Given the description of an element on the screen output the (x, y) to click on. 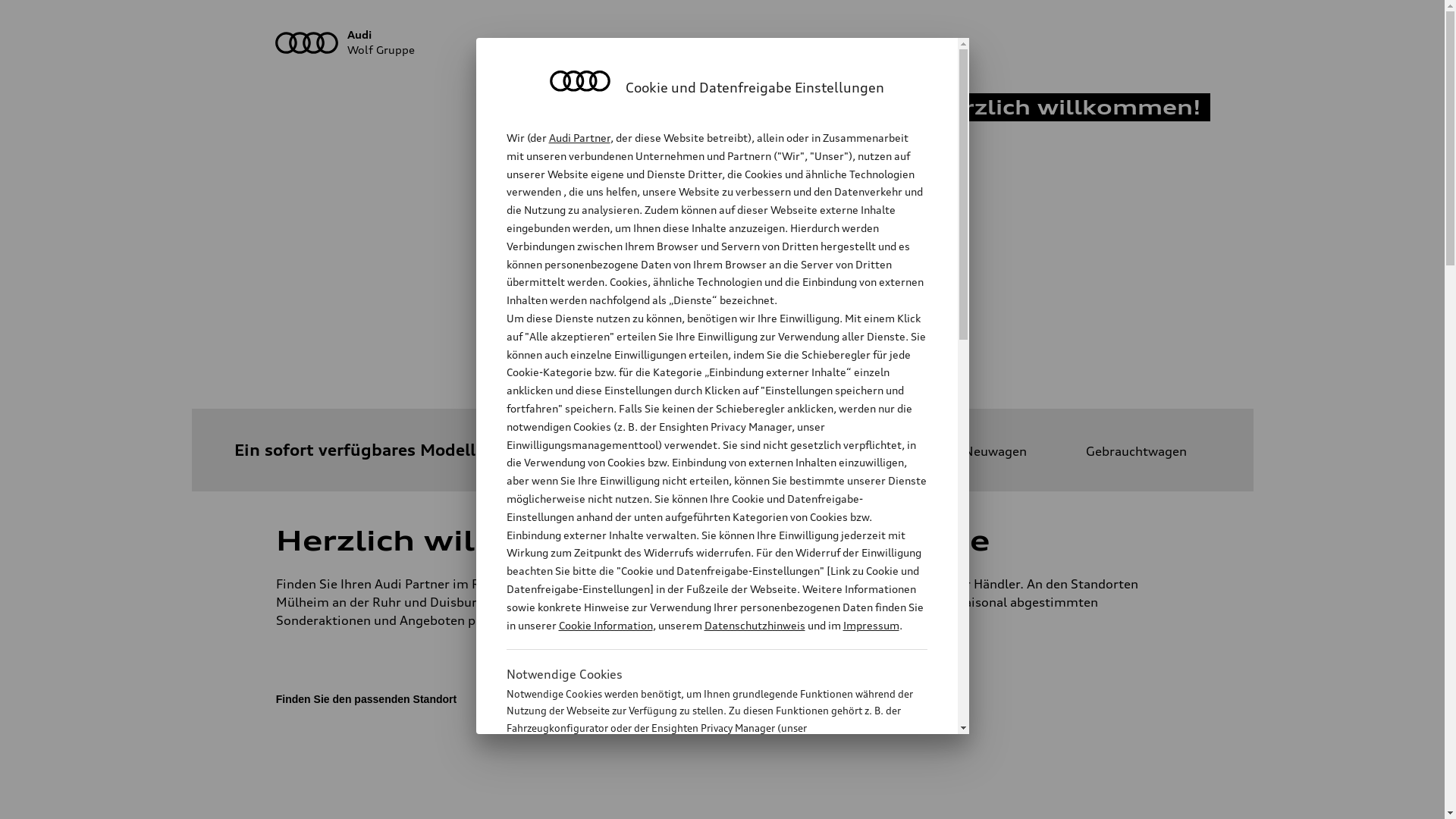
Cookie Information Element type: text (605, 624)
Audi Partner Element type: text (579, 137)
Neuwagen Element type: text (980, 450)
Audi
Wolf Gruppe Element type: text (722, 42)
Impressum Element type: text (871, 624)
Cookie Information Element type: text (700, 802)
Gebrauchtwagen Element type: text (1122, 450)
Datenschutzhinweis Element type: text (753, 624)
